Given the description of an element on the screen output the (x, y) to click on. 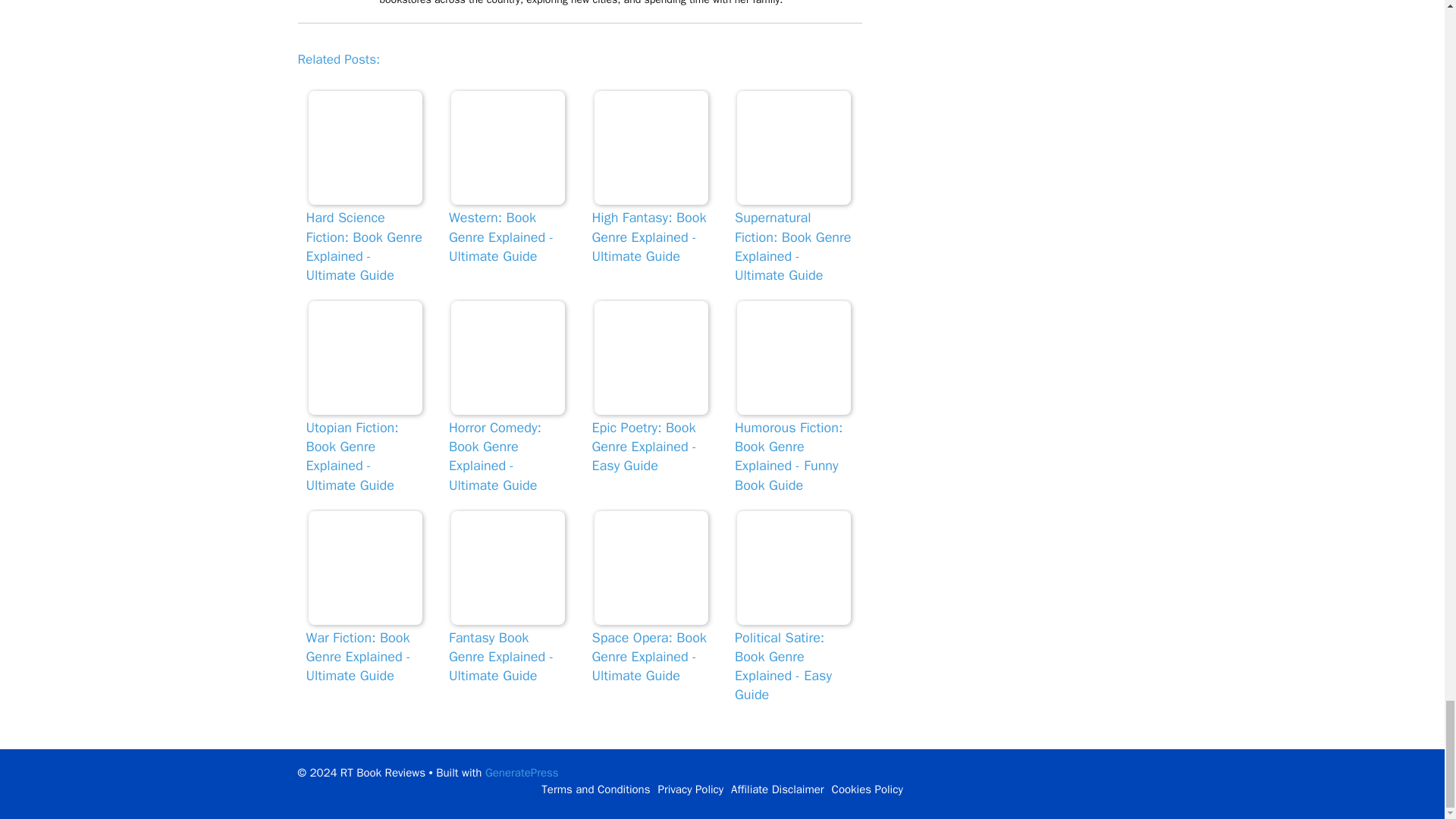
Western: Book Genre Explained - Ultimate Guide (507, 147)
Epic Poetry: Book Genre Explained - Easy Guide (650, 357)
Humorous Fiction: Book Genre Explained - Funny Book Guide (793, 357)
Utopian Fiction: Book Genre Explained - Ultimate Guide (365, 357)
Horror Comedy: Book Genre Explained - Ultimate Guide (507, 357)
War Fiction: Book Genre Explained - Ultimate Guide (365, 567)
High Fantasy: Book Genre Explained - Ultimate Guide (650, 147)
Supernatural Fiction: Book Genre Explained - Ultimate Guide (793, 147)
Hard Science Fiction: Book Genre Explained - Ultimate Guide (365, 147)
